Given the description of an element on the screen output the (x, y) to click on. 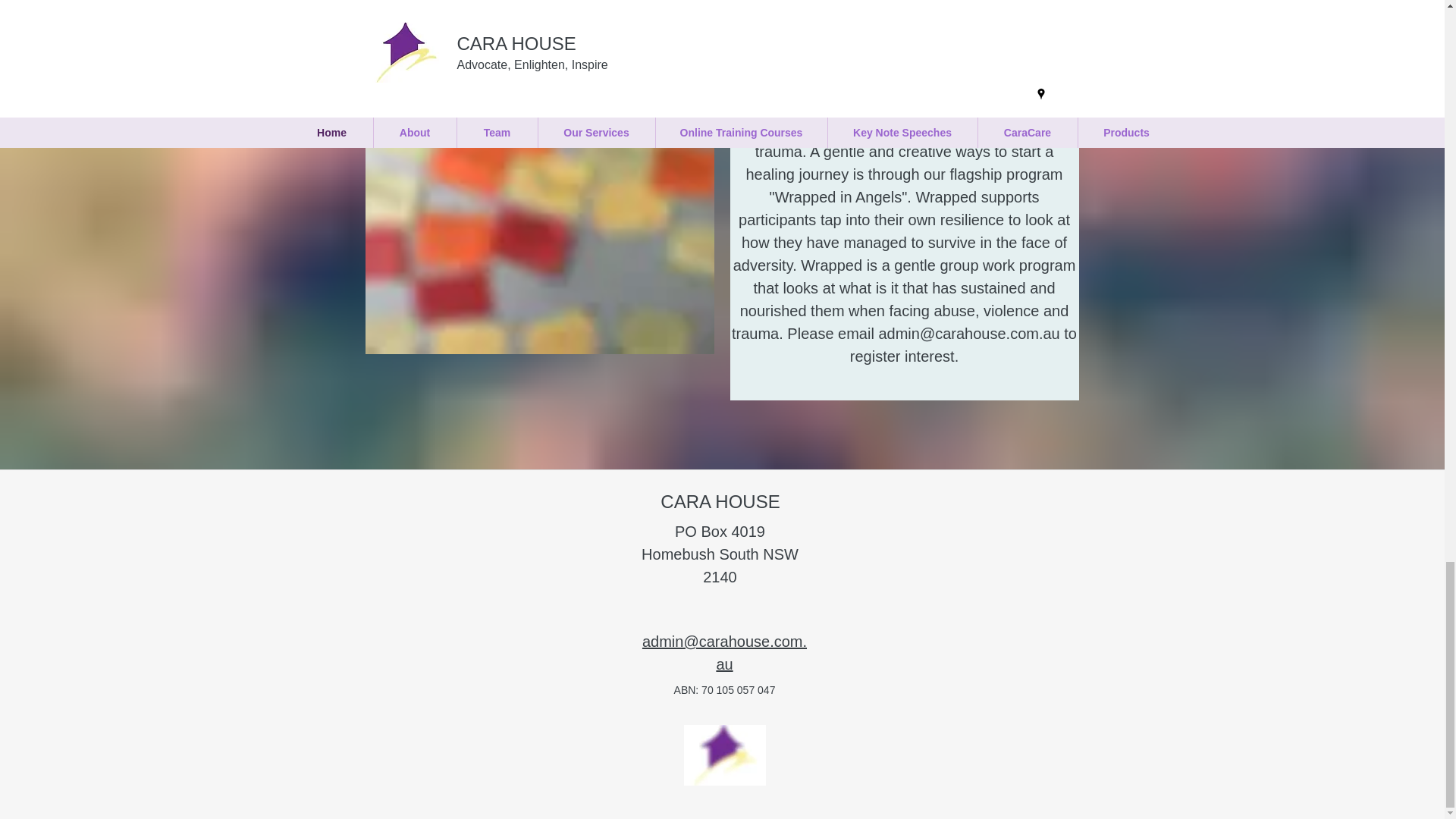
Logo.jpg (724, 754)
